Given the description of an element on the screen output the (x, y) to click on. 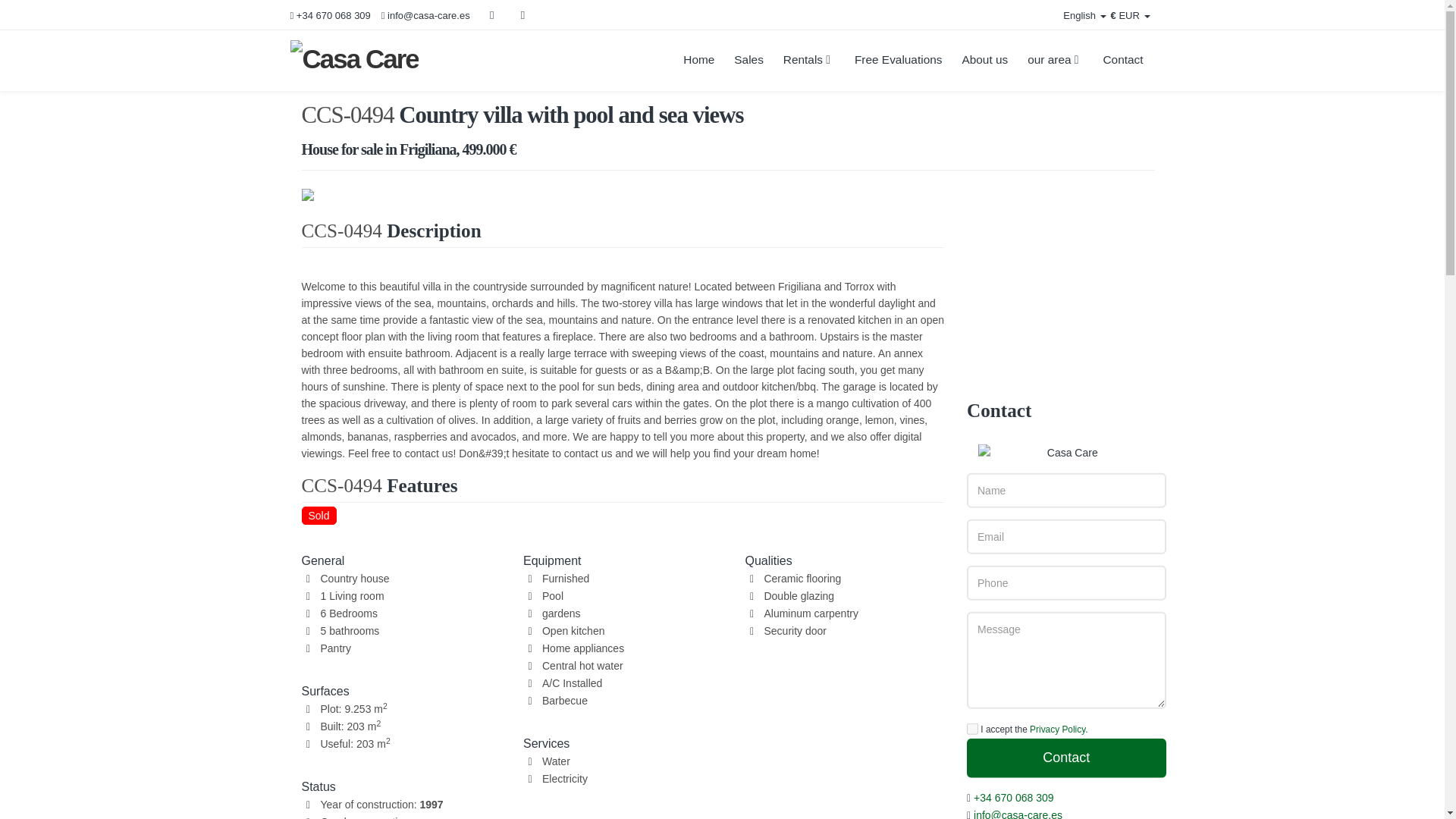
1 (972, 728)
Casa Care (353, 58)
Home (698, 60)
Rentals (808, 60)
About us (984, 60)
Sales (748, 60)
Free Evaluations (898, 60)
English (1074, 15)
